Given the description of an element on the screen output the (x, y) to click on. 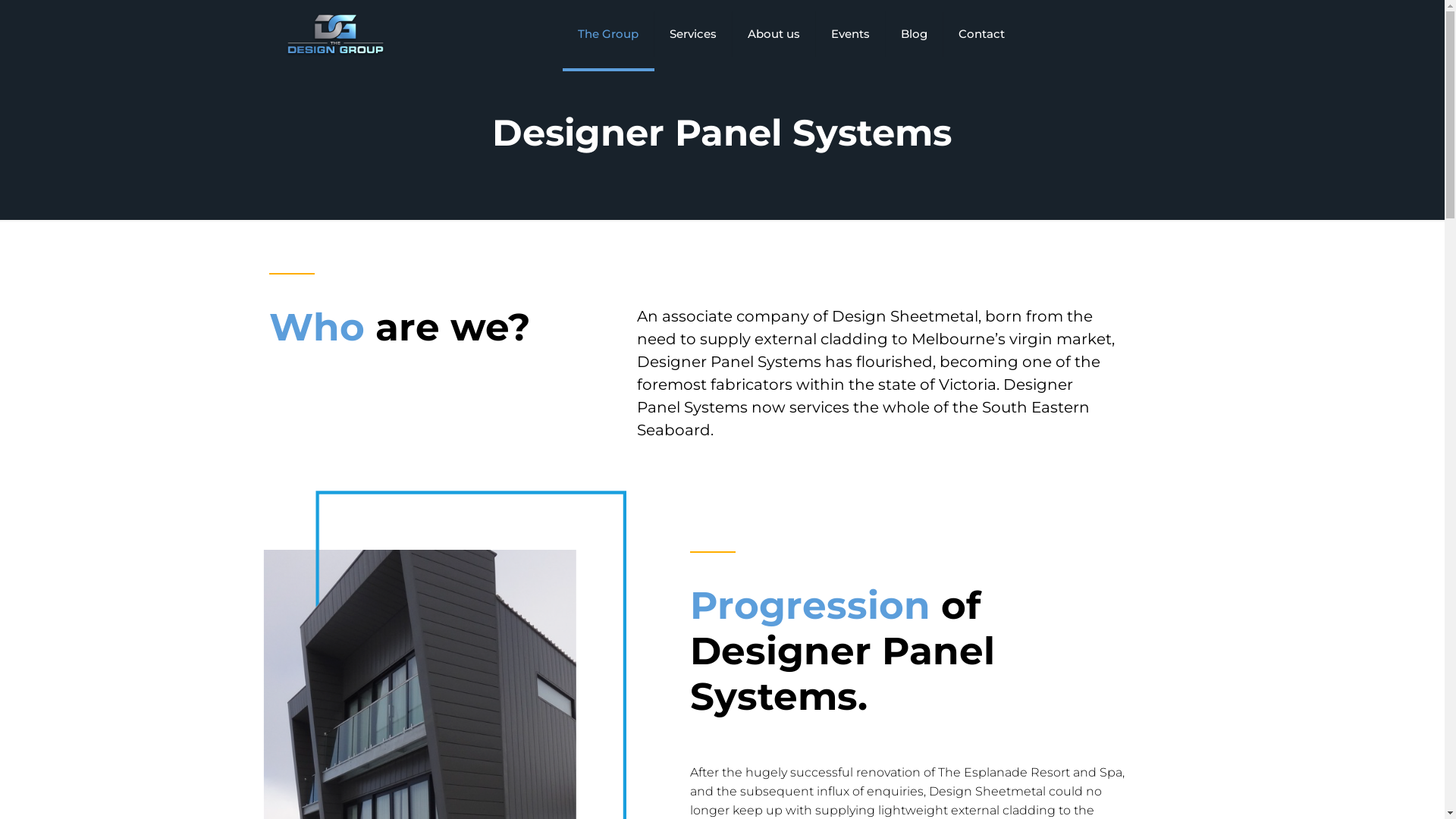
Events Element type: text (850, 34)
Design Group Element type: hover (335, 34)
Blog Element type: text (914, 34)
About us Element type: text (773, 34)
Contact Element type: text (981, 34)
The Group Element type: text (608, 34)
Services Element type: text (693, 34)
